Given the description of an element on the screen output the (x, y) to click on. 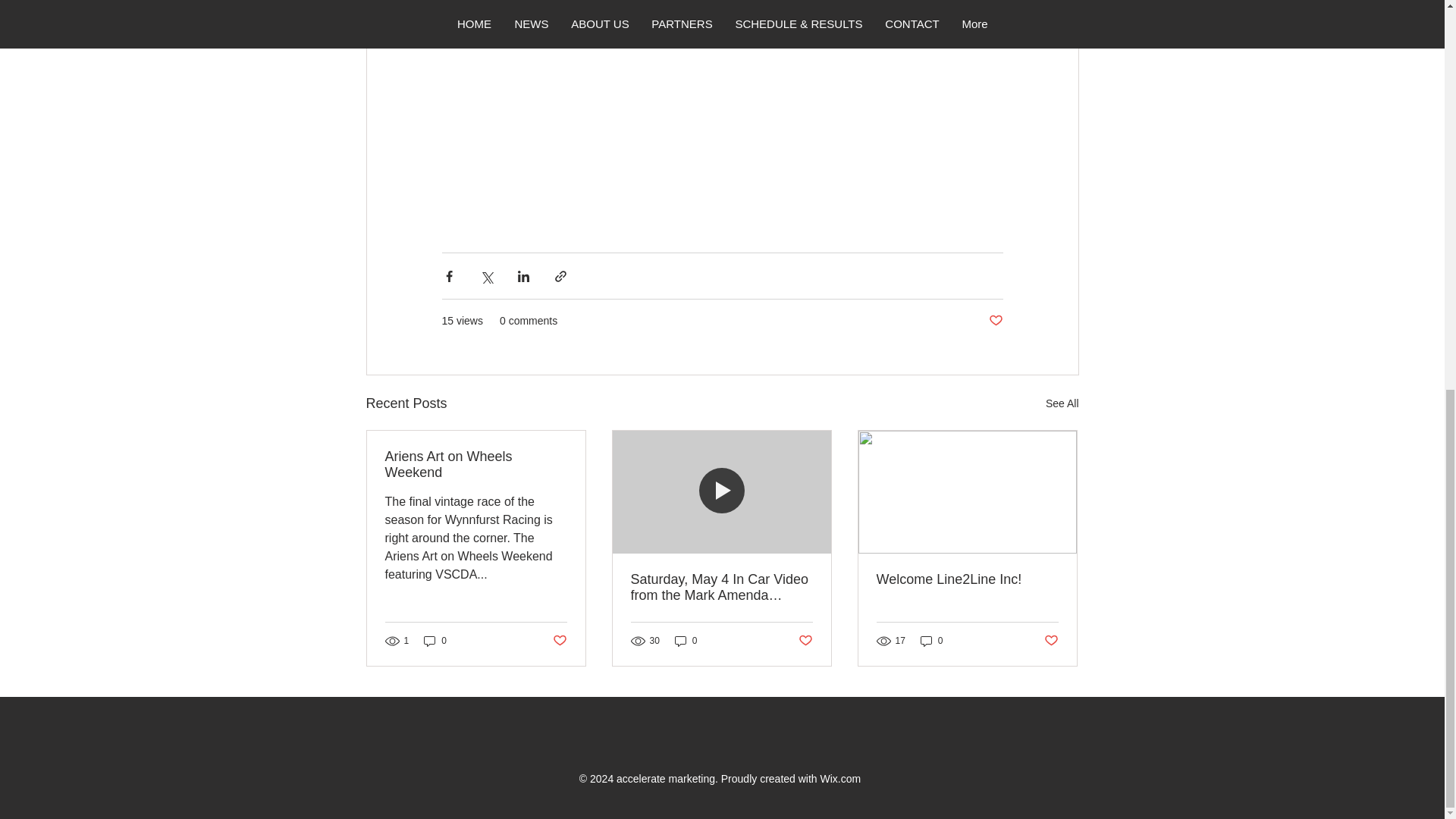
Post not marked as liked (995, 320)
See All (1061, 403)
Ariens Art on Wheels Weekend (476, 464)
0 (435, 640)
Post not marked as liked (558, 641)
